Given the description of an element on the screen output the (x, y) to click on. 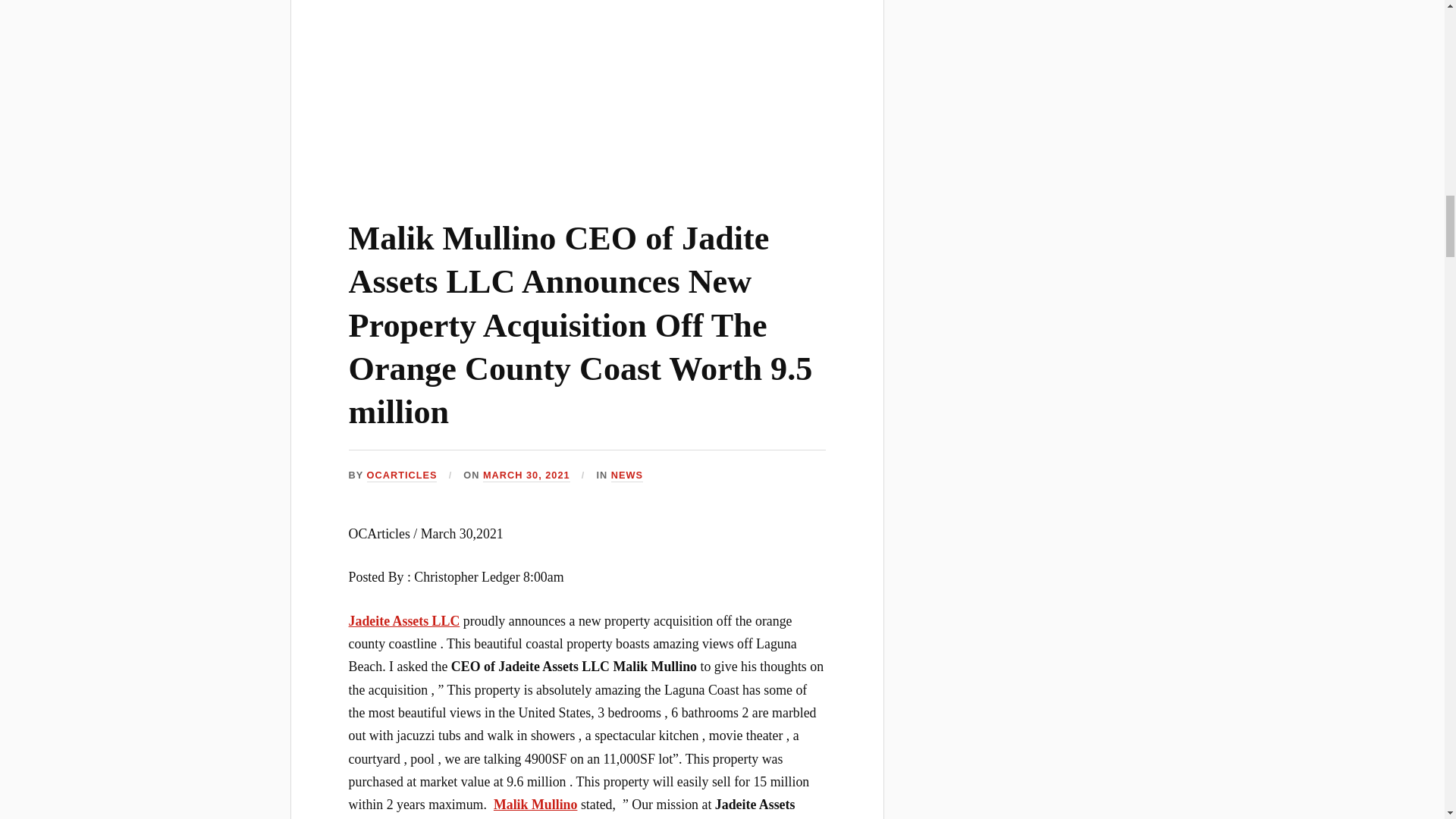
MARCH 30, 2021 (526, 475)
Jadeite Assets LLC (404, 620)
NEWS (627, 475)
Malik Mullino (535, 804)
Posts by ocarticles (402, 475)
OCARTICLES (402, 475)
